Given the description of an element on the screen output the (x, y) to click on. 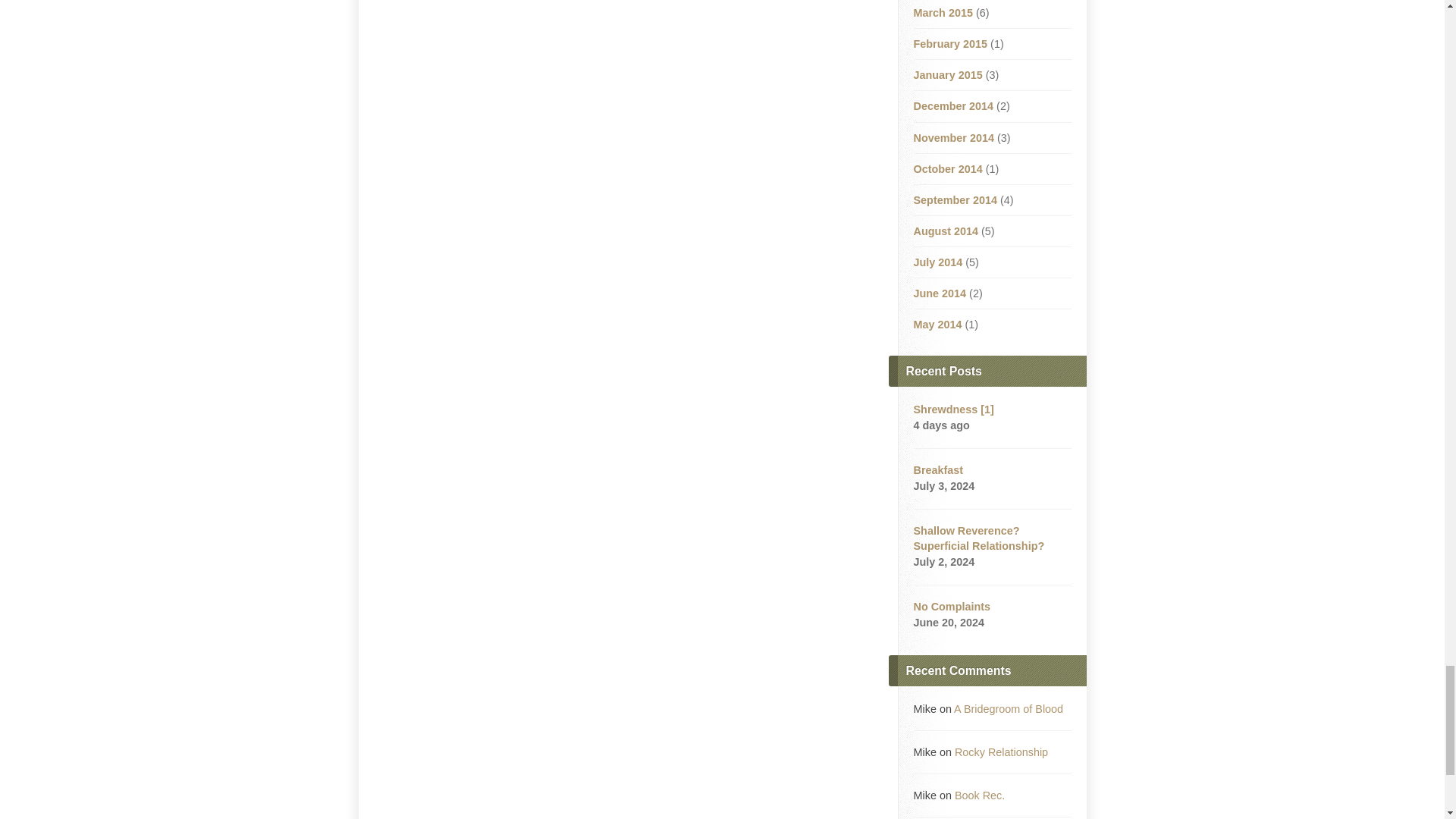
Shallow Reverence? Superficial Relationship? (977, 538)
No Complaints (951, 606)
Breakfast (937, 469)
